Given the description of an element on the screen output the (x, y) to click on. 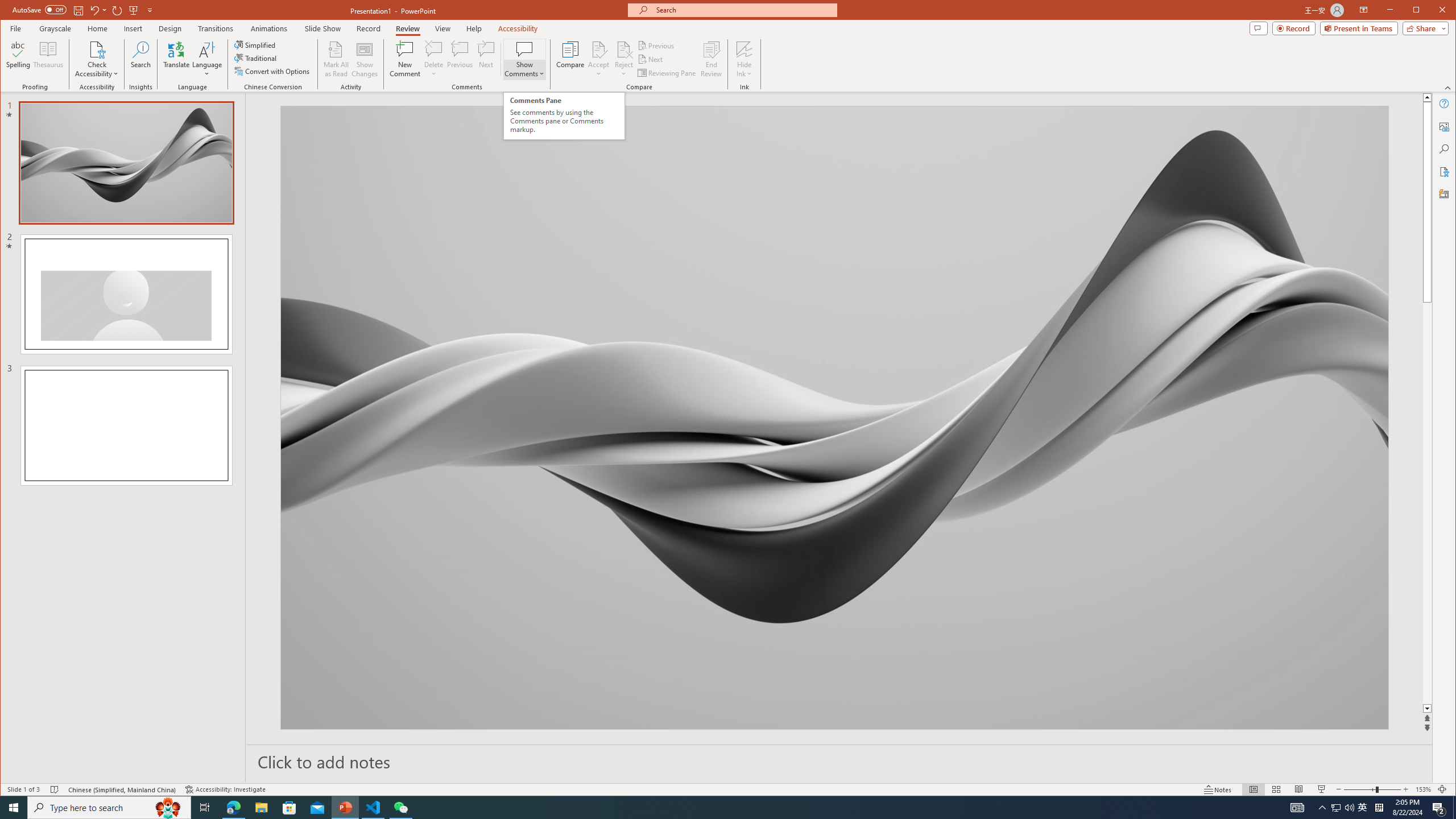
Zoom 153% (1422, 789)
Type here to search (108, 807)
Microsoft Edge - 1 running window (233, 807)
Notification Chevron (1322, 807)
Task View (204, 807)
Simplified (255, 44)
Traditional (256, 57)
Show Comments (524, 48)
Compare (569, 59)
